Given the description of an element on the screen output the (x, y) to click on. 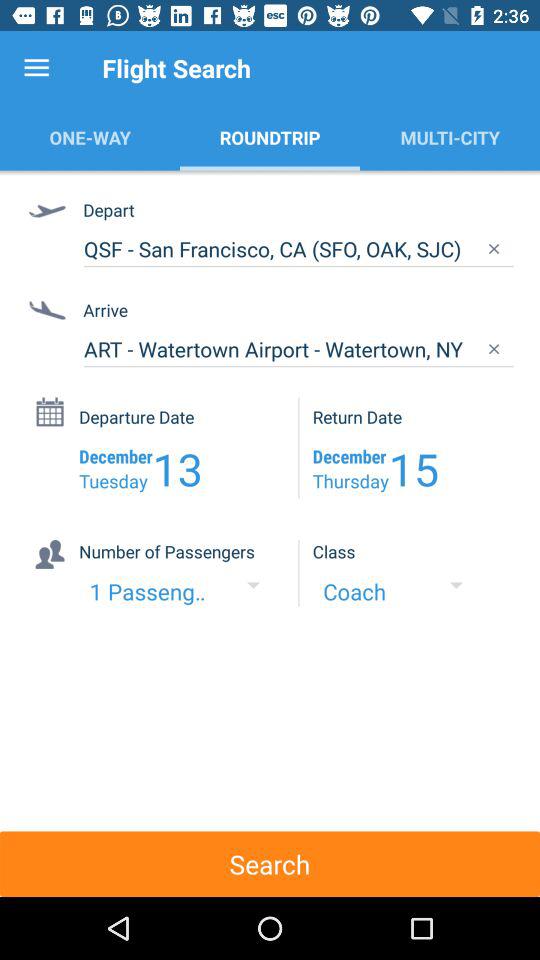
turn on icon to the left of flight search icon (36, 68)
